Given the description of an element on the screen output the (x, y) to click on. 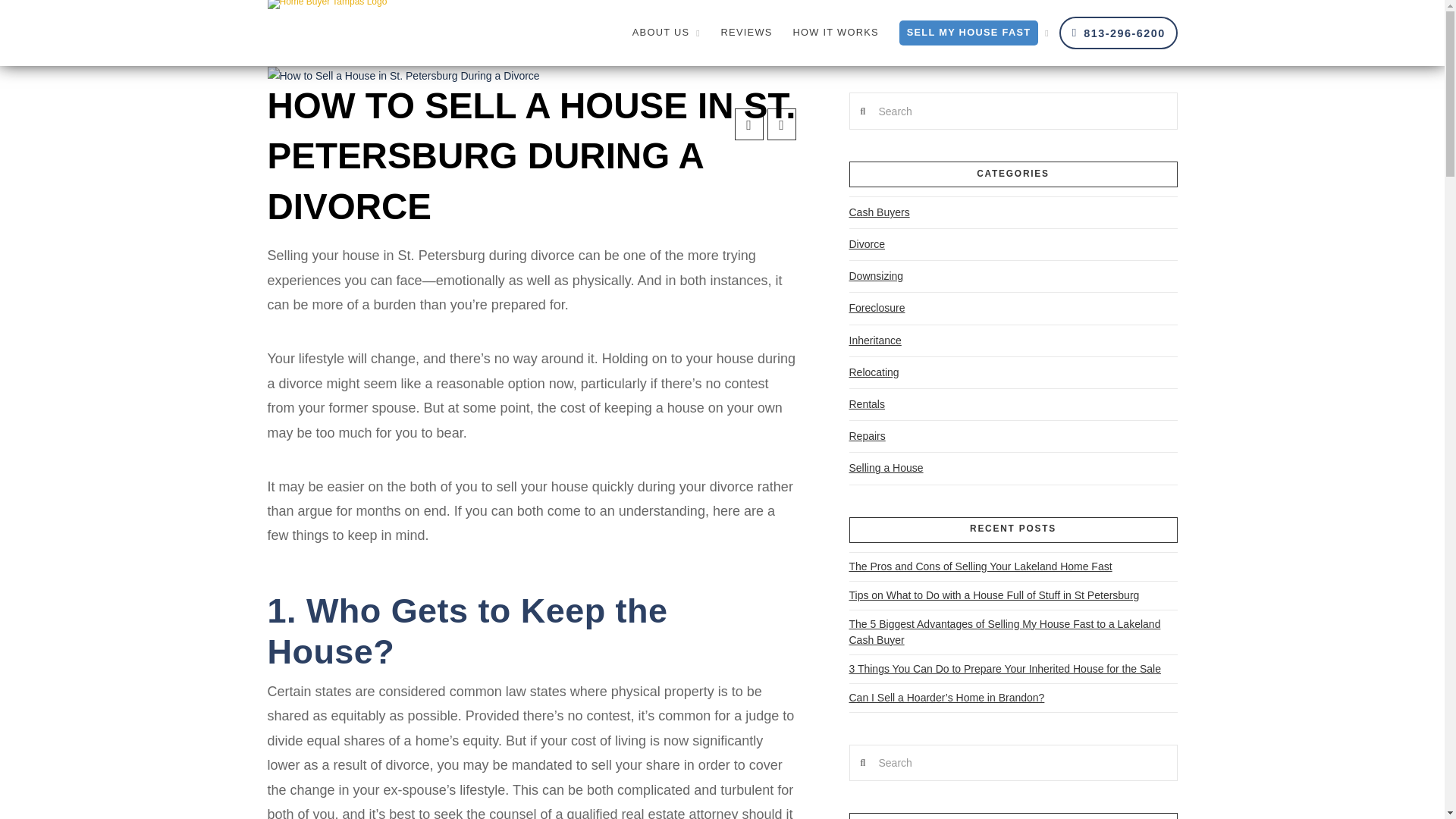
Divorce (866, 244)
Get My Cash Offer (919, 52)
HOW IT WORKS (834, 33)
ABOUT US (665, 33)
Cash Buyers (879, 212)
813-296-6200 (1118, 32)
REVIEWS (746, 33)
Foreclosure (876, 307)
Downsizing (876, 276)
SELL MY HOUSE FAST (973, 33)
